Given the description of an element on the screen output the (x, y) to click on. 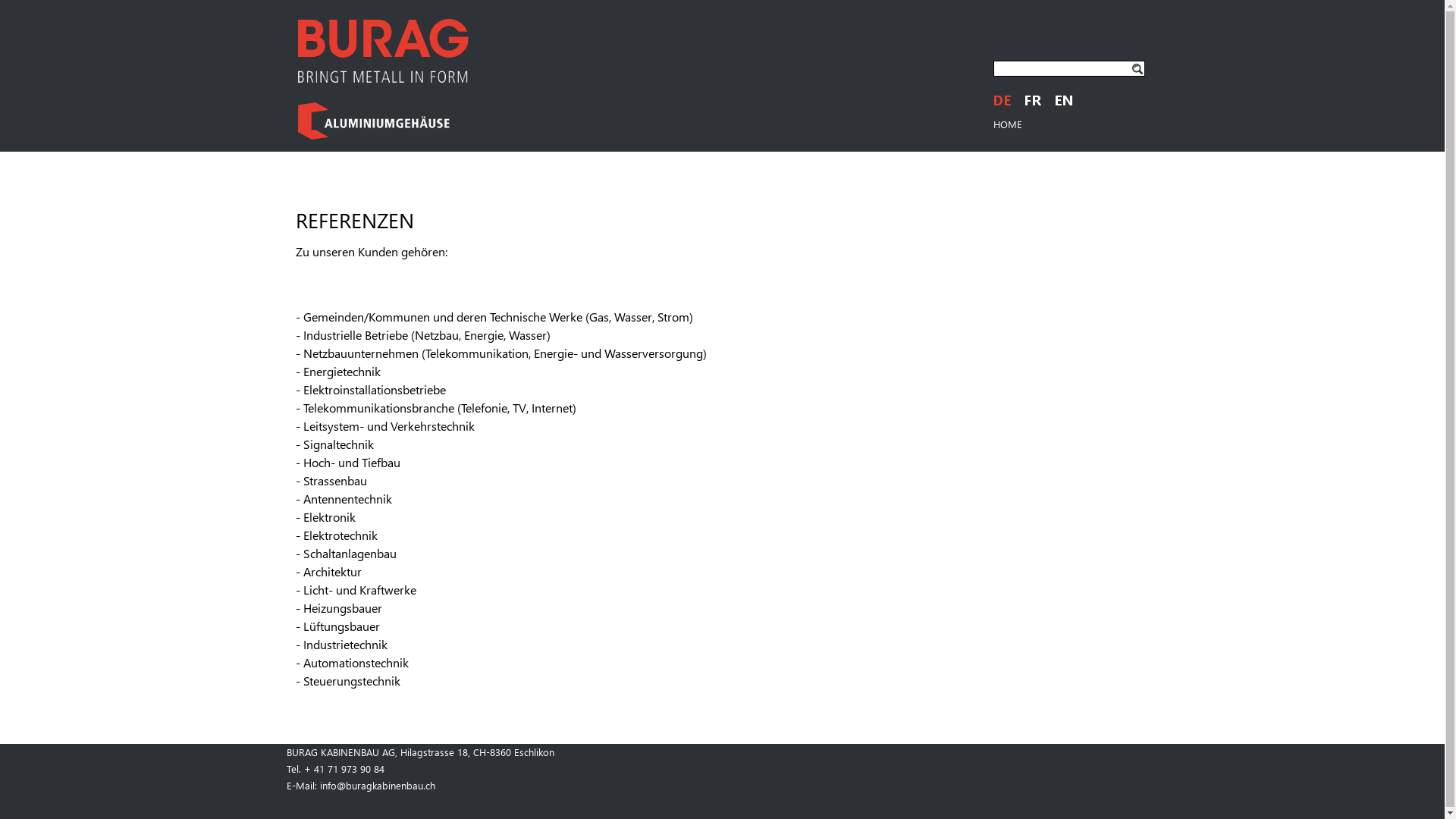
HOME Element type: text (1007, 123)
